Given the description of an element on the screen output the (x, y) to click on. 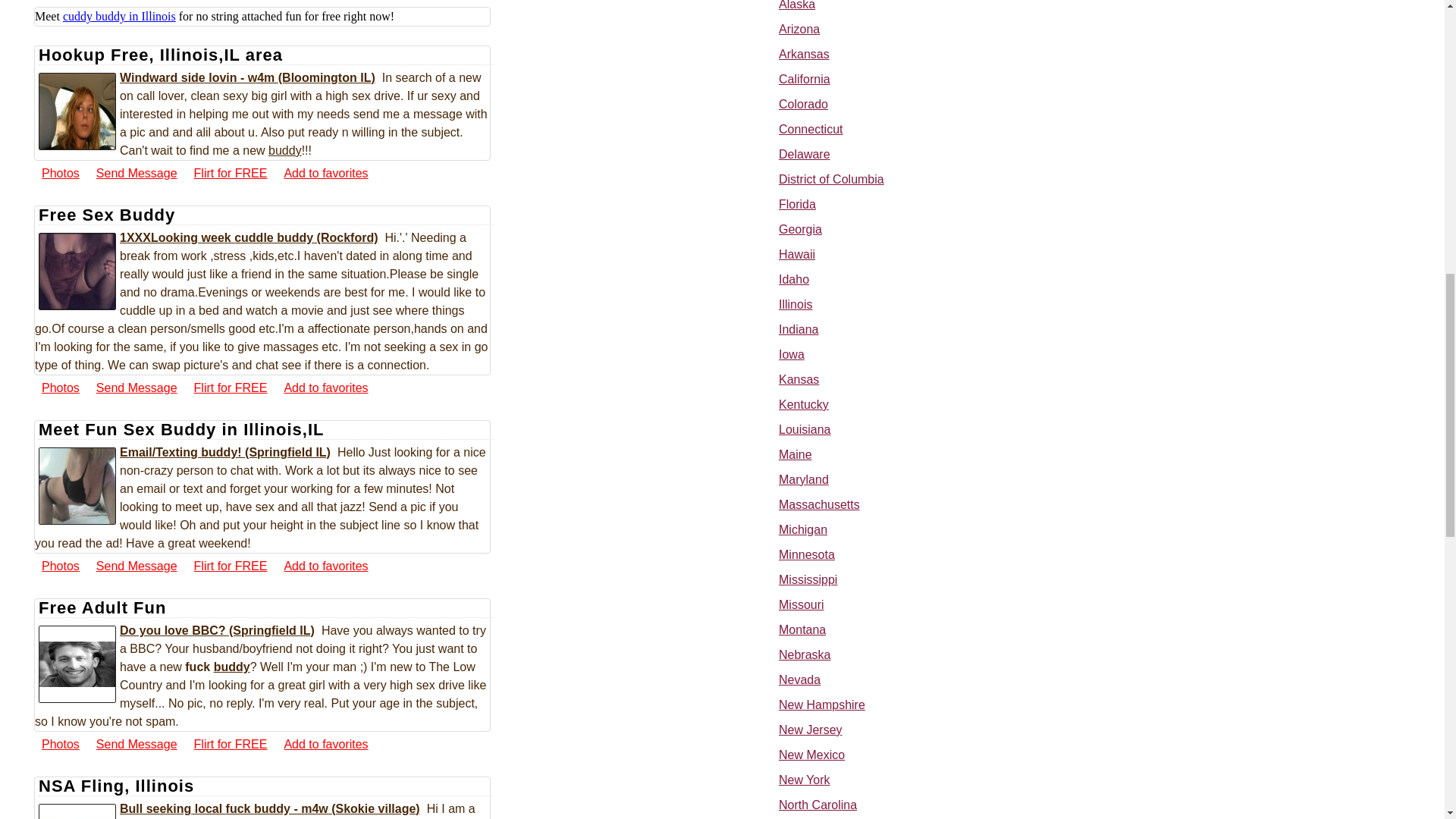
Send Message (136, 387)
friend with benefits Illinois (77, 110)
adult fun Illinois (77, 663)
Flirt for FREE (230, 172)
Flirt for FREE (230, 387)
Add to favorites (325, 387)
Add to favorites (325, 172)
casual encounters Illinois (77, 271)
Flirt for FREE (230, 566)
intimate encounter Illinois (77, 811)
Photos (59, 566)
Send Message (136, 566)
cuddy buddy in Illinois (119, 15)
Photos (59, 387)
Send Message (136, 172)
